Given the description of an element on the screen output the (x, y) to click on. 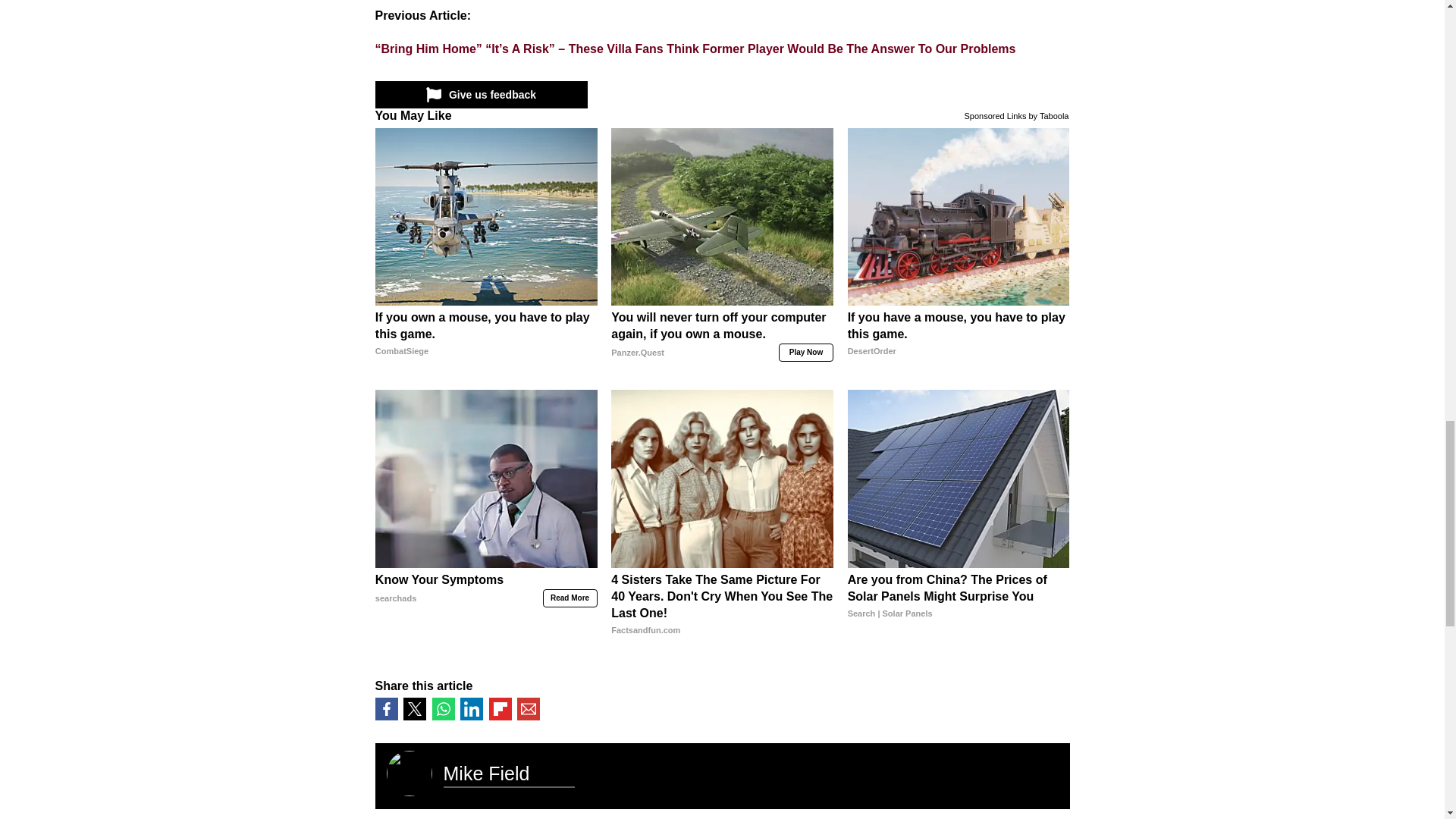
Give us feedback (480, 94)
If you own a mouse, you have to play this game. (485, 342)
by Taboola (1047, 114)
Know Your Symptoms (485, 604)
Sponsored Links (994, 114)
